Given the description of an element on the screen output the (x, y) to click on. 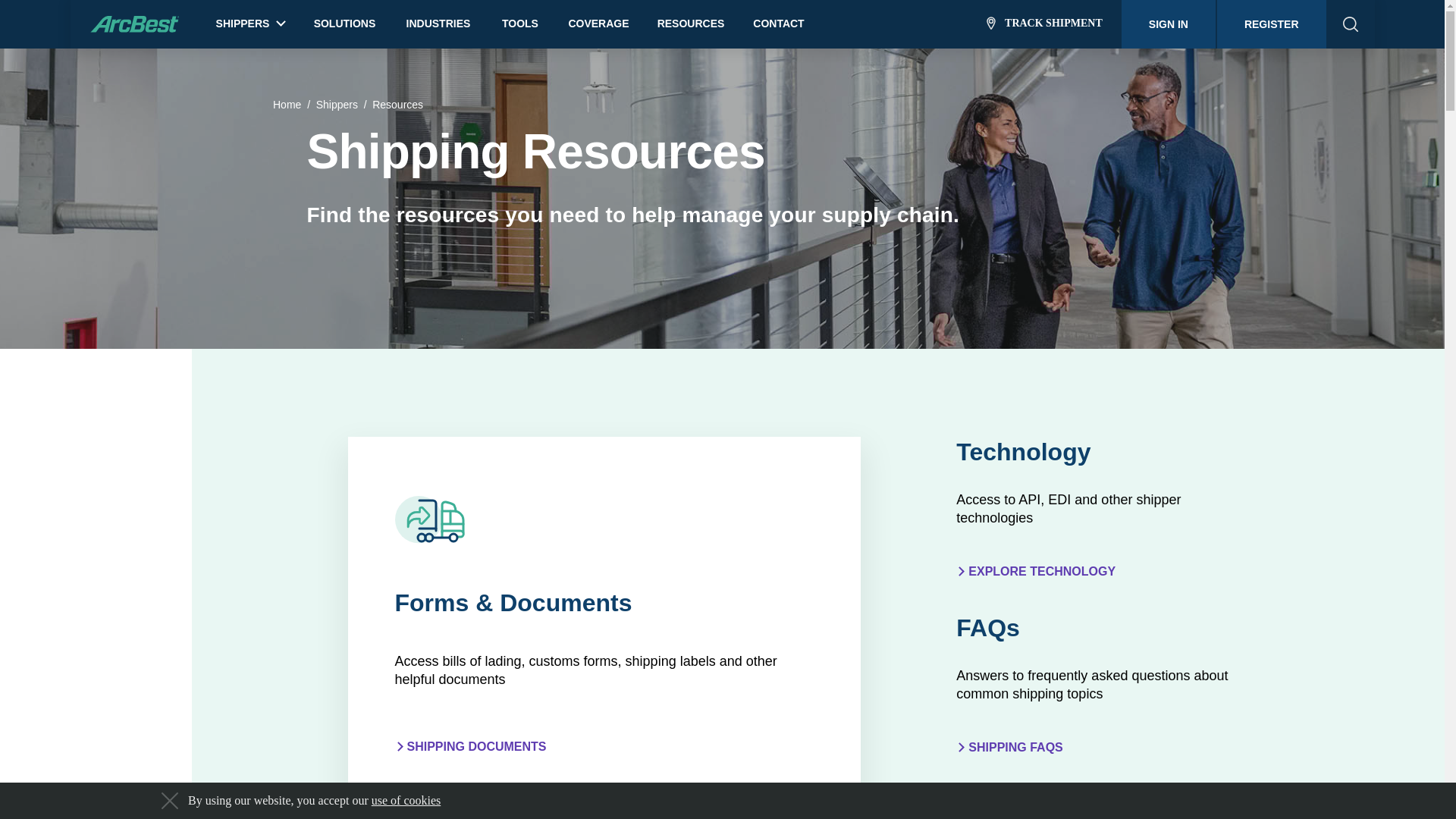
SHIPPERS (250, 20)
CONTACT (777, 24)
SOLUTIONS (344, 24)
TRACK SHIPMENT (1044, 23)
COVERAGE (597, 24)
INDUSTRIES (438, 24)
SIGN IN (1168, 24)
RESOURCES (691, 24)
REGISTER (1271, 24)
